Given the description of an element on the screen output the (x, y) to click on. 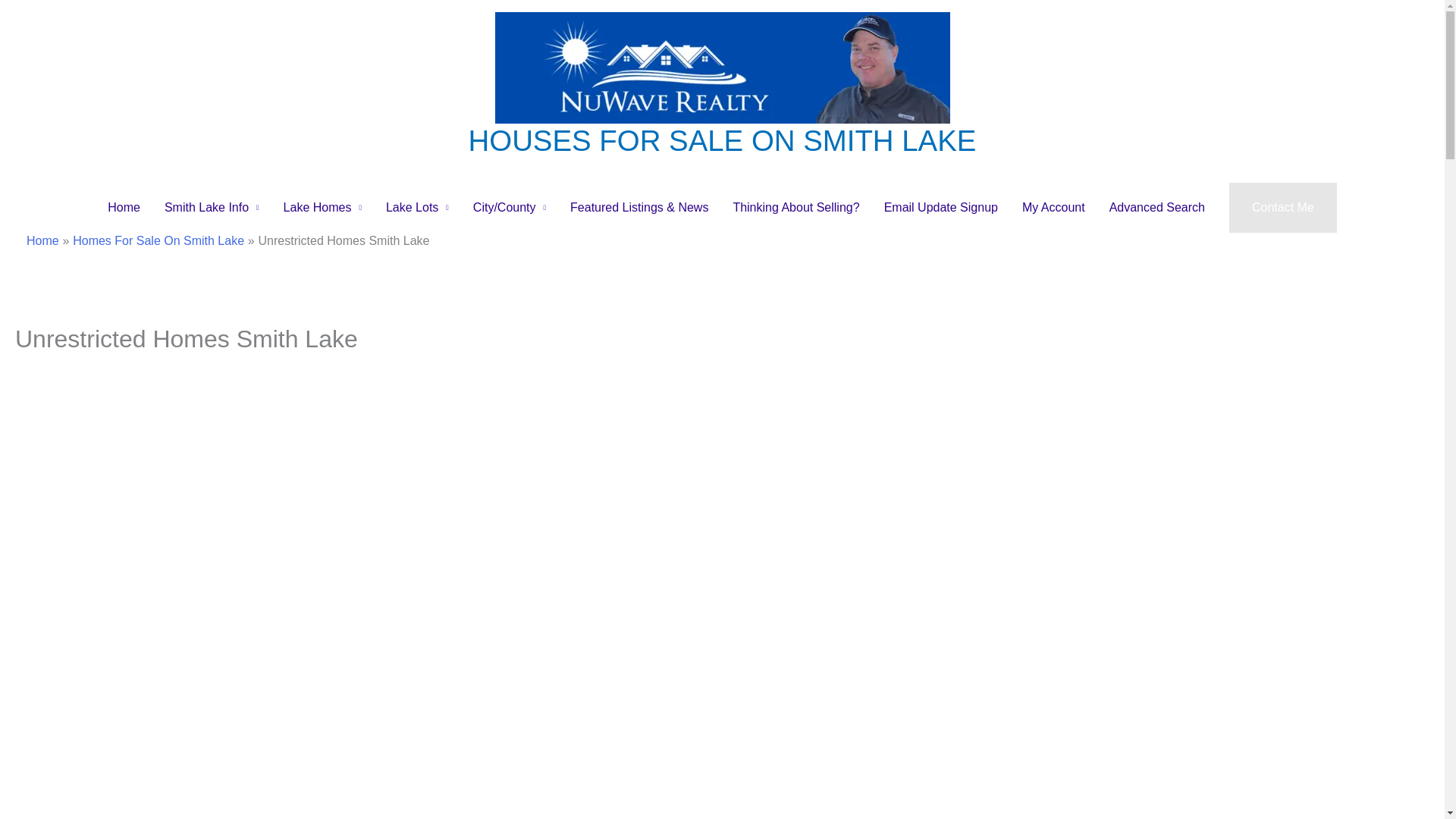
Lake Lots (417, 207)
Smith Lake Info (211, 207)
Lake Homes (322, 207)
HOUSES FOR SALE ON SMITH LAKE (722, 140)
Home (124, 207)
